Given the description of an element on the screen output the (x, y) to click on. 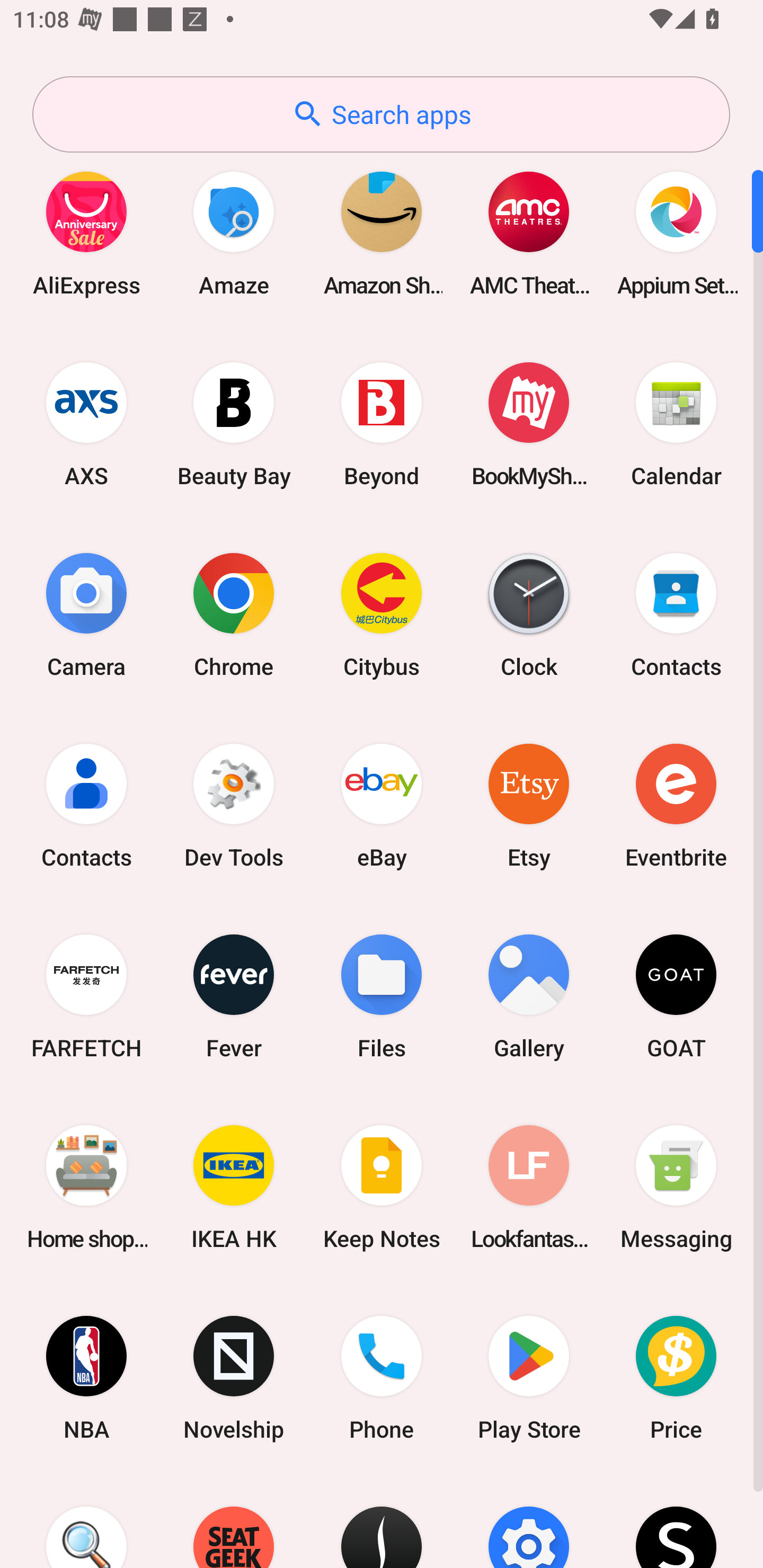
  Search apps (381, 114)
AliExpress (86, 233)
Amaze (233, 233)
Amazon Shopping (381, 233)
AMC Theatres (528, 233)
Appium Settings (676, 233)
AXS (86, 424)
Beauty Bay (233, 424)
Beyond (381, 424)
BookMyShow (528, 424)
Calendar (676, 424)
Camera (86, 614)
Chrome (233, 614)
Citybus (381, 614)
Clock (528, 614)
Contacts (676, 614)
Contacts (86, 805)
Dev Tools (233, 805)
eBay (381, 805)
Etsy (528, 805)
Eventbrite (676, 805)
FARFETCH (86, 996)
Fever (233, 996)
Files (381, 996)
Gallery (528, 996)
GOAT (676, 996)
Home shopping (86, 1186)
IKEA HK (233, 1186)
Keep Notes (381, 1186)
Lookfantastic (528, 1186)
Messaging (676, 1186)
NBA (86, 1377)
Novelship (233, 1377)
Phone (381, 1377)
Play Store (528, 1377)
Price (676, 1377)
